Given the description of an element on the screen output the (x, y) to click on. 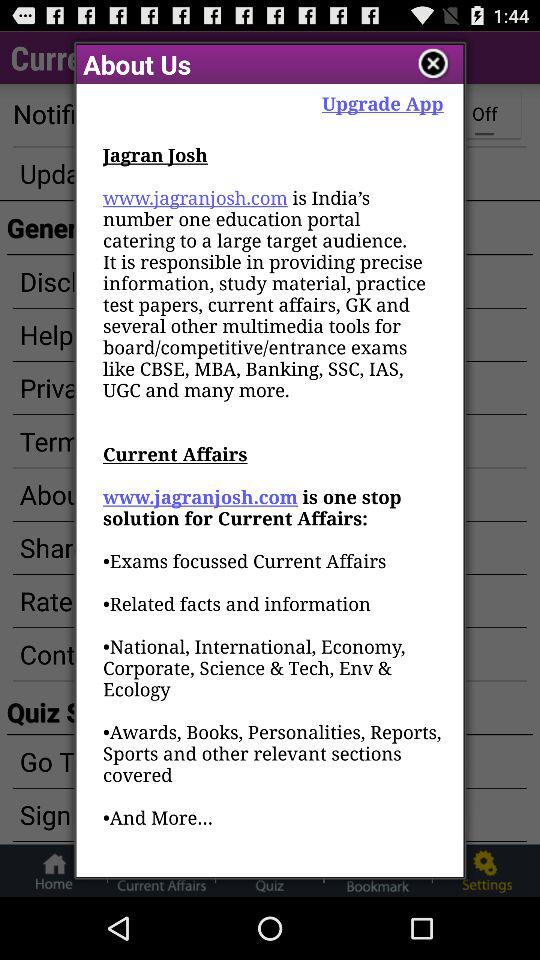
close page (433, 63)
